Given the description of an element on the screen output the (x, y) to click on. 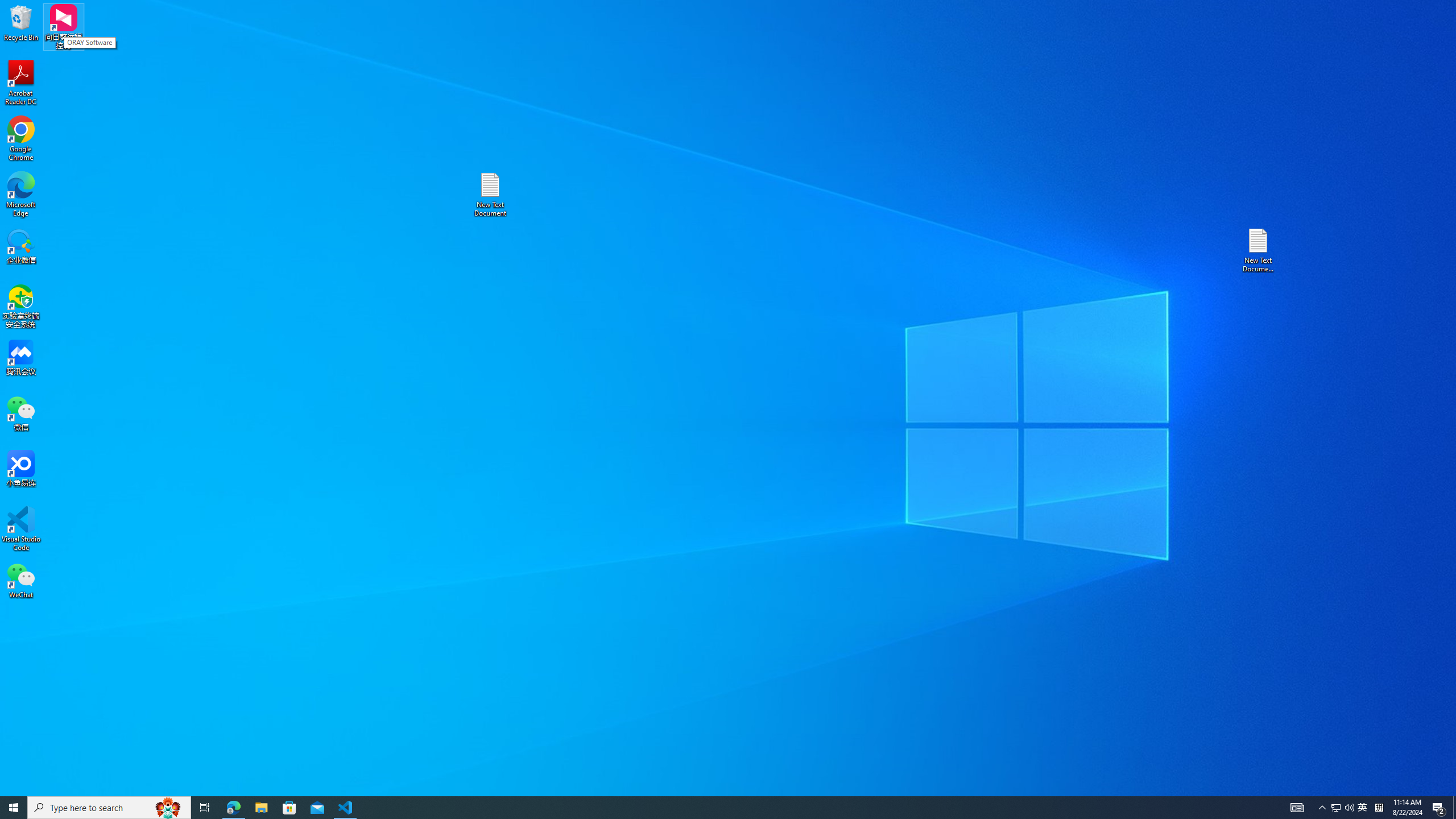
Q2790: 100% (1349, 807)
Google Chrome (21, 138)
Acrobat Reader DC (21, 82)
AutomationID: 4105 (1297, 807)
Running applications (707, 807)
Show desktop (1454, 807)
Start (13, 807)
Visual Studio Code (21, 528)
Task View (204, 807)
New Text Document (2) (1258, 250)
Recycle Bin (21, 22)
